Given the description of an element on the screen output the (x, y) to click on. 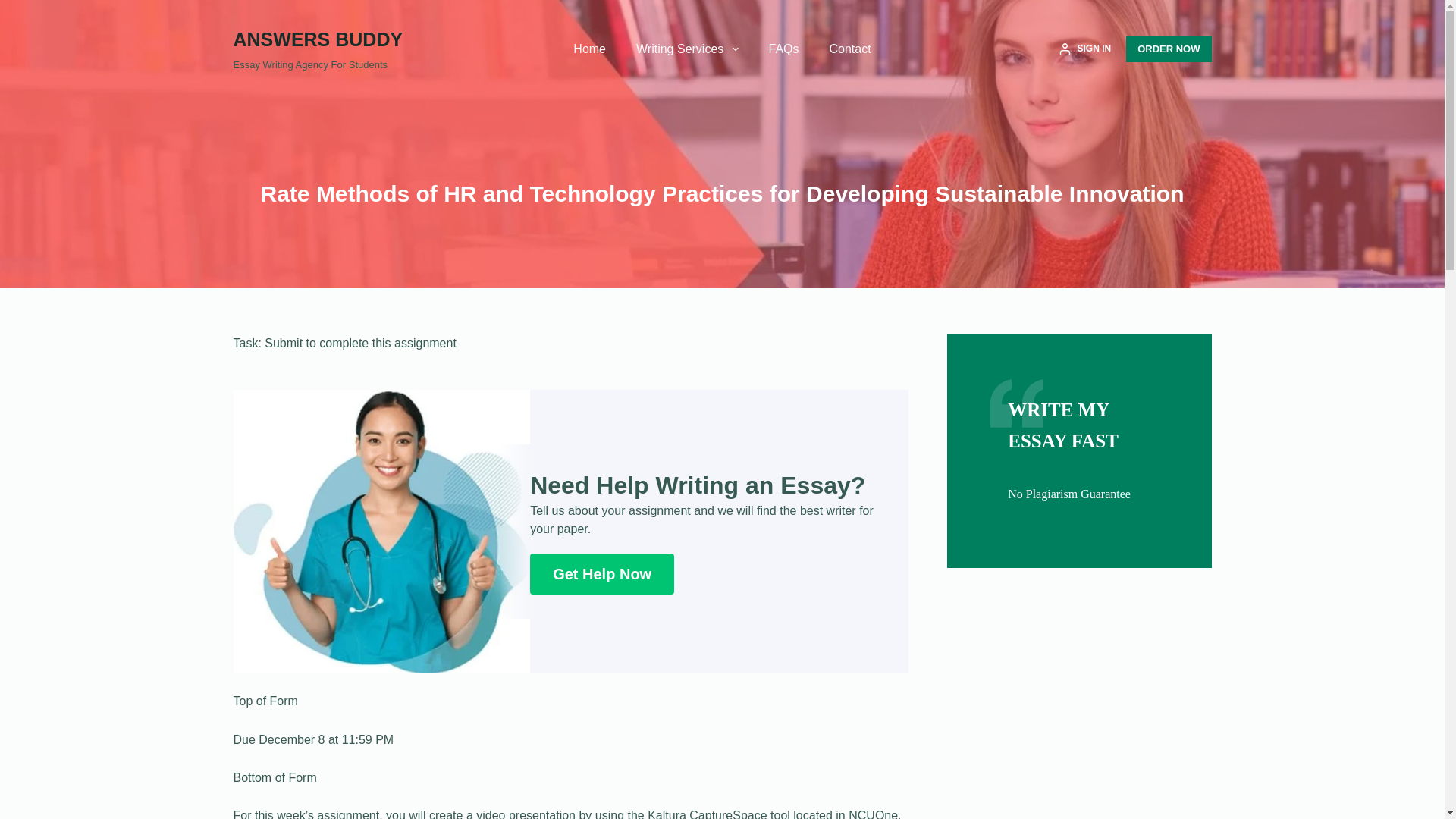
SIGN IN (1084, 48)
ORDER NOW (1168, 49)
Get Help Now (601, 573)
Skip to content (15, 7)
ANSWERS BUDDY (317, 38)
Home (589, 49)
Contact (849, 49)
FAQs (783, 49)
Writing Services (686, 49)
